Given the description of an element on the screen output the (x, y) to click on. 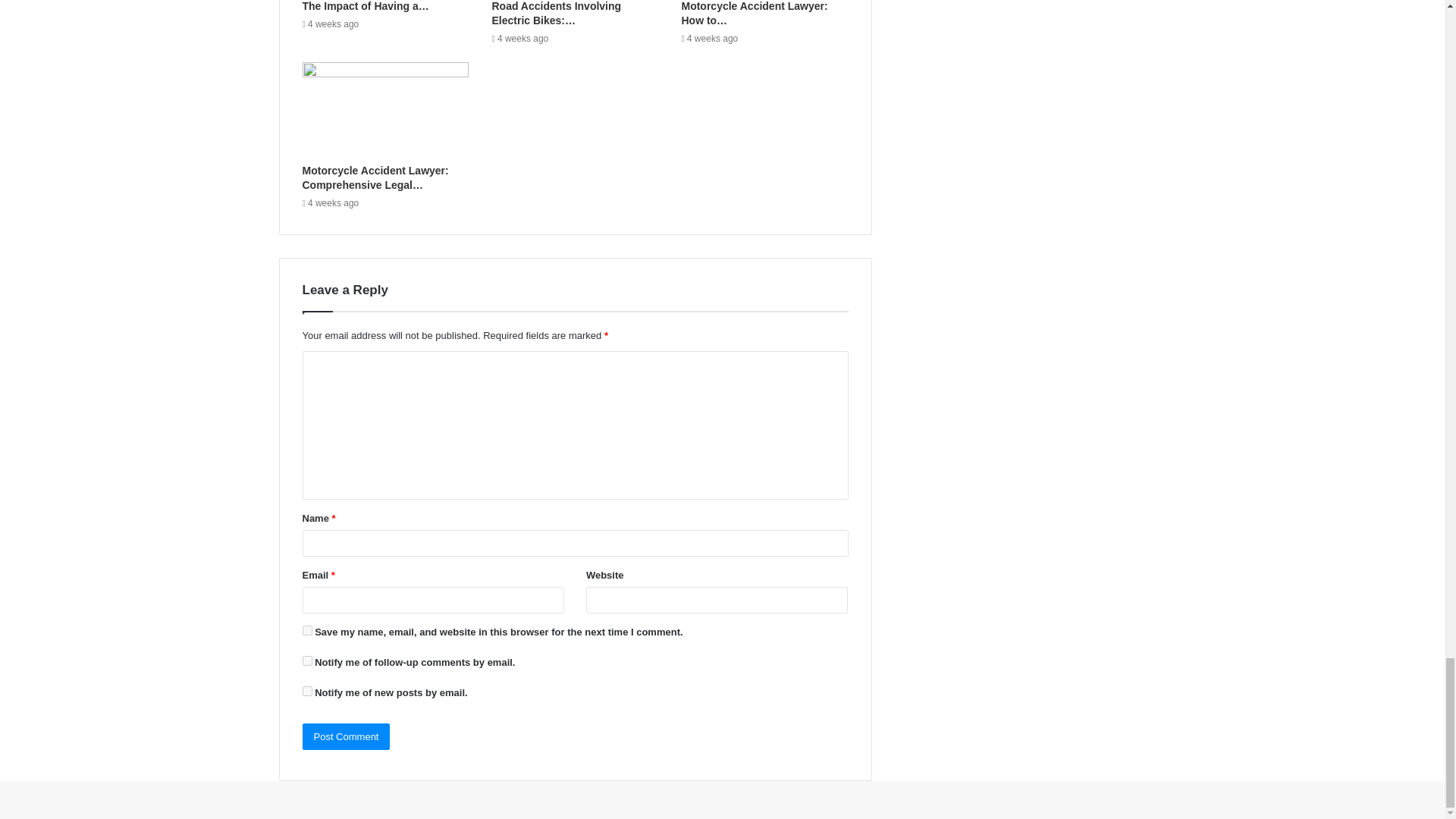
Post Comment (345, 736)
subscribe (306, 660)
subscribe (306, 691)
yes (306, 630)
